Given the description of an element on the screen output the (x, y) to click on. 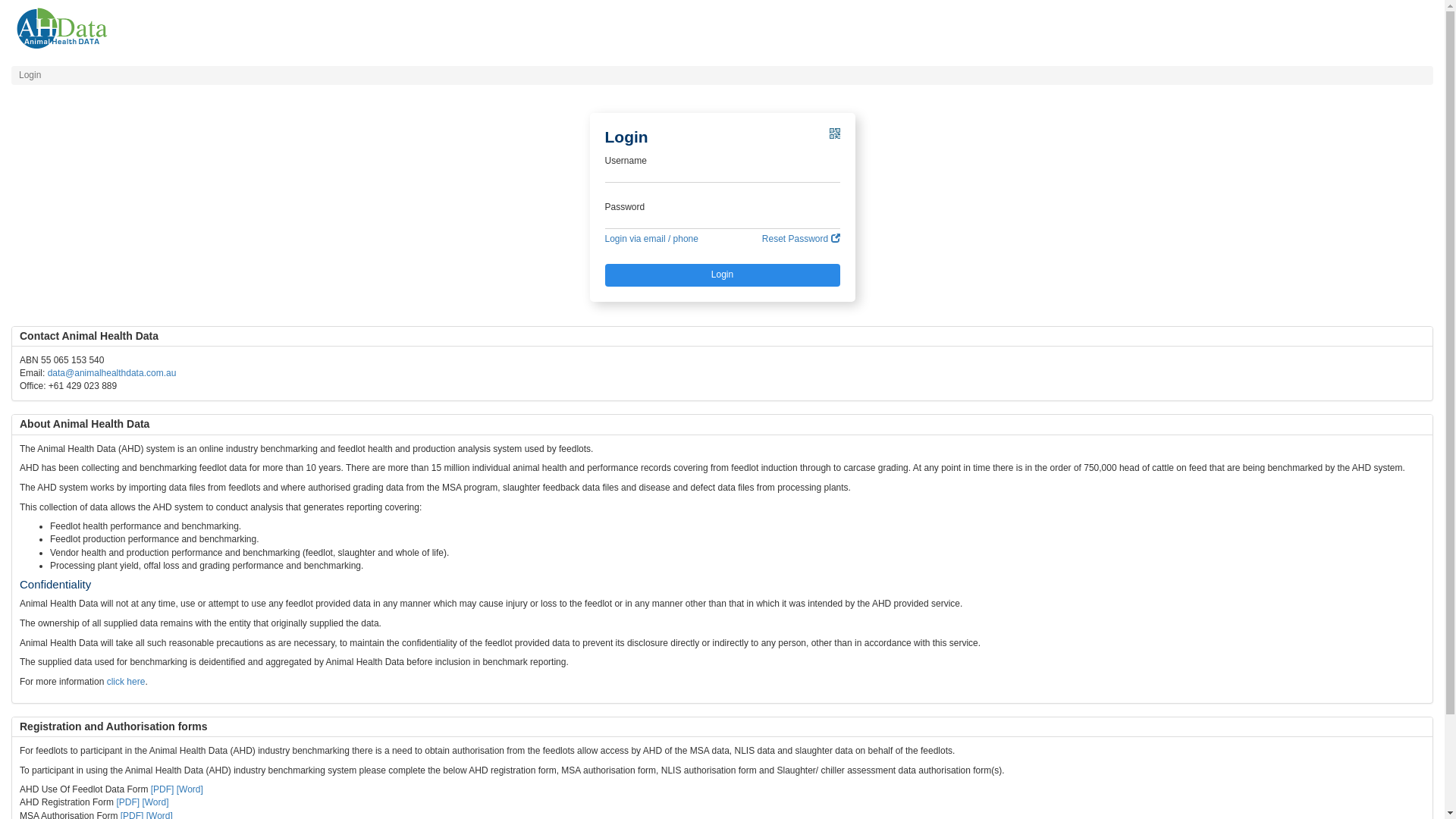
Login via AHD App Element type: hover (834, 137)
Login via email / phone Element type: text (651, 238)
click here Element type: text (125, 681)
[PDF] Element type: text (127, 802)
Reset Password Element type: text (801, 238)
[Word] Element type: text (189, 789)
data@animalhealthdata.com.au Element type: text (111, 372)
[Word] Element type: text (154, 802)
[PDF] Element type: text (162, 789)
Login Element type: text (722, 274)
